Given the description of an element on the screen output the (x, y) to click on. 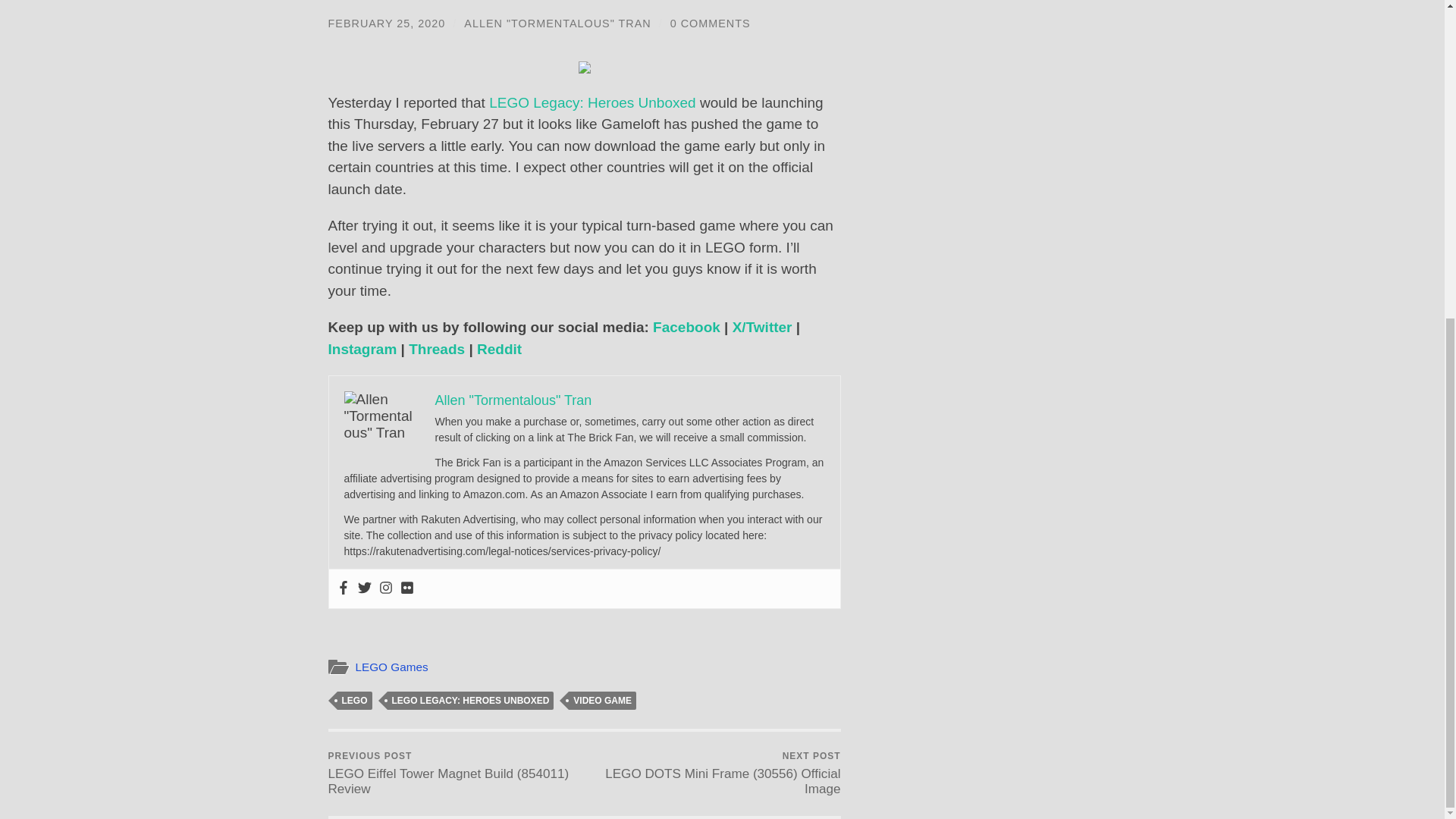
LEGO Legacy: Heroes Unboxed (592, 102)
LEGO Games (391, 666)
Facebook (686, 326)
0 COMMENTS (710, 23)
VIDEO GAME (602, 700)
Posts by Allen "Tormentalous" Tran (557, 23)
LEGO (353, 700)
Threads (436, 349)
FEBRUARY 25, 2020 (386, 23)
Allen "Tormentalous" Tran (513, 400)
ALLEN "TORMENTALOUS" TRAN (557, 23)
Reddit (499, 349)
LEGO LEGACY: HEROES UNBOXED (470, 700)
Instagram (361, 349)
